Given the description of an element on the screen output the (x, y) to click on. 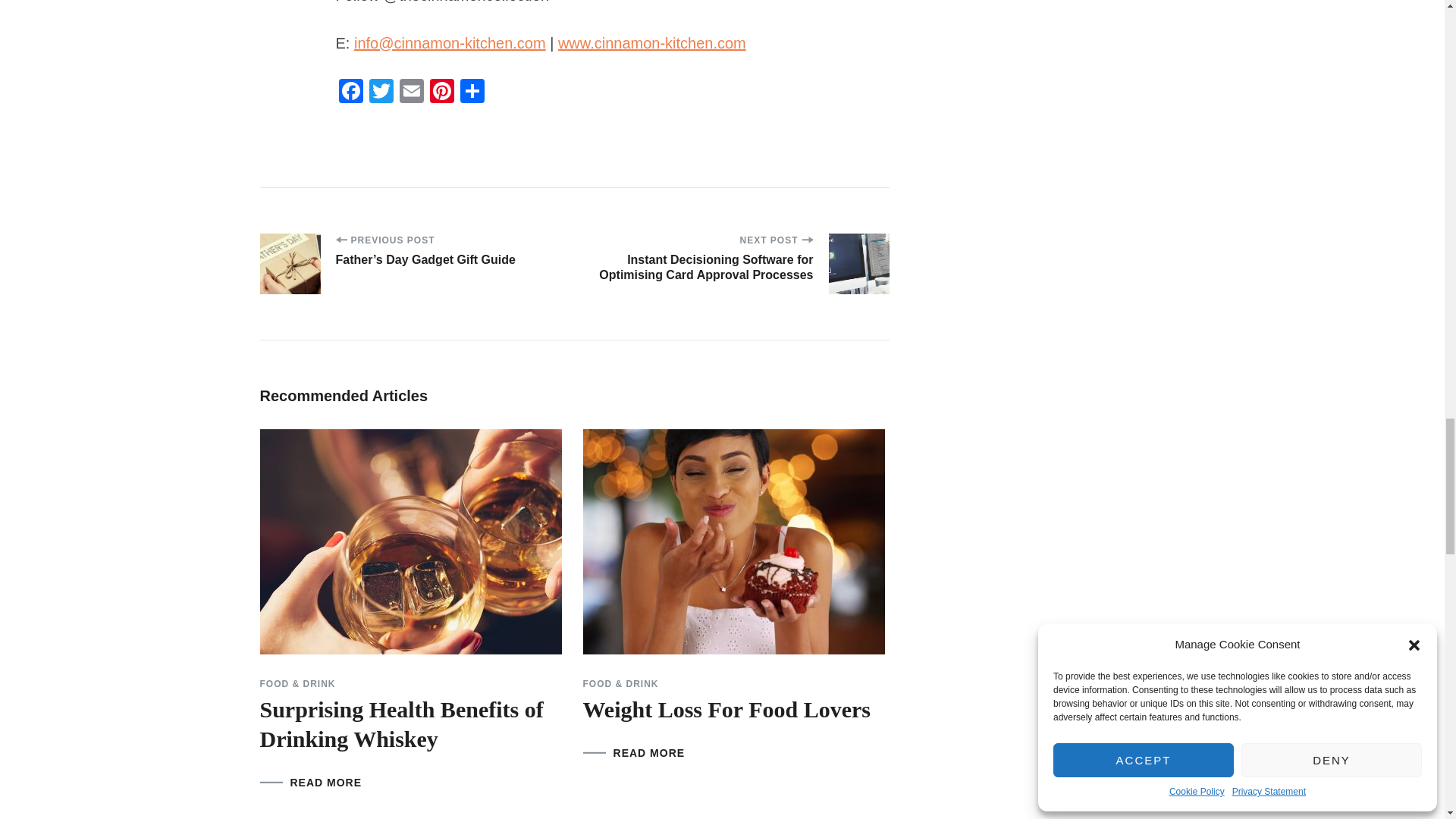
Email (411, 92)
Pinterest (441, 92)
Facebook (349, 92)
Twitter (380, 92)
